Given the description of an element on the screen output the (x, y) to click on. 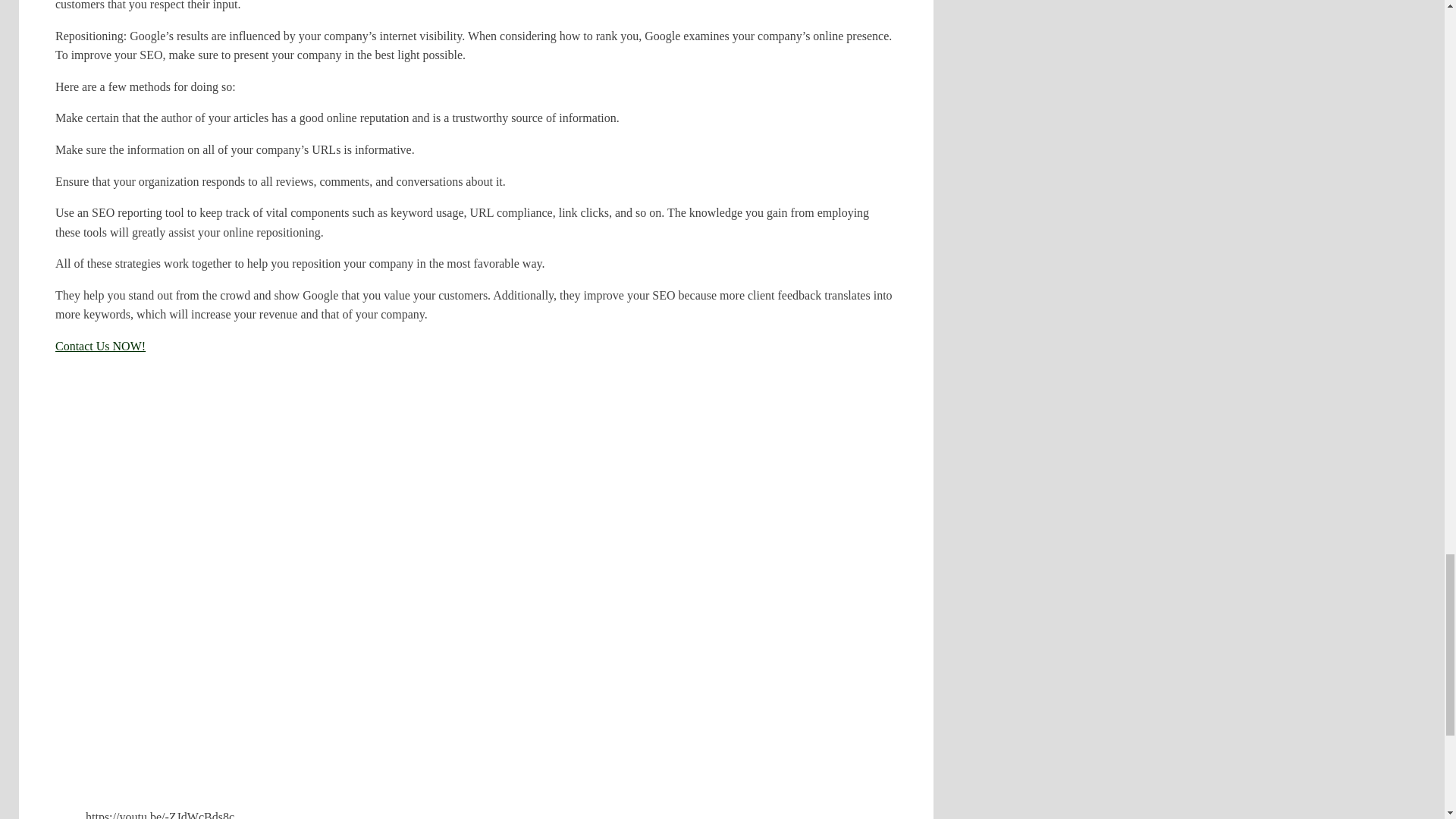
Contact Us NOW! (100, 345)
